Given the description of an element on the screen output the (x, y) to click on. 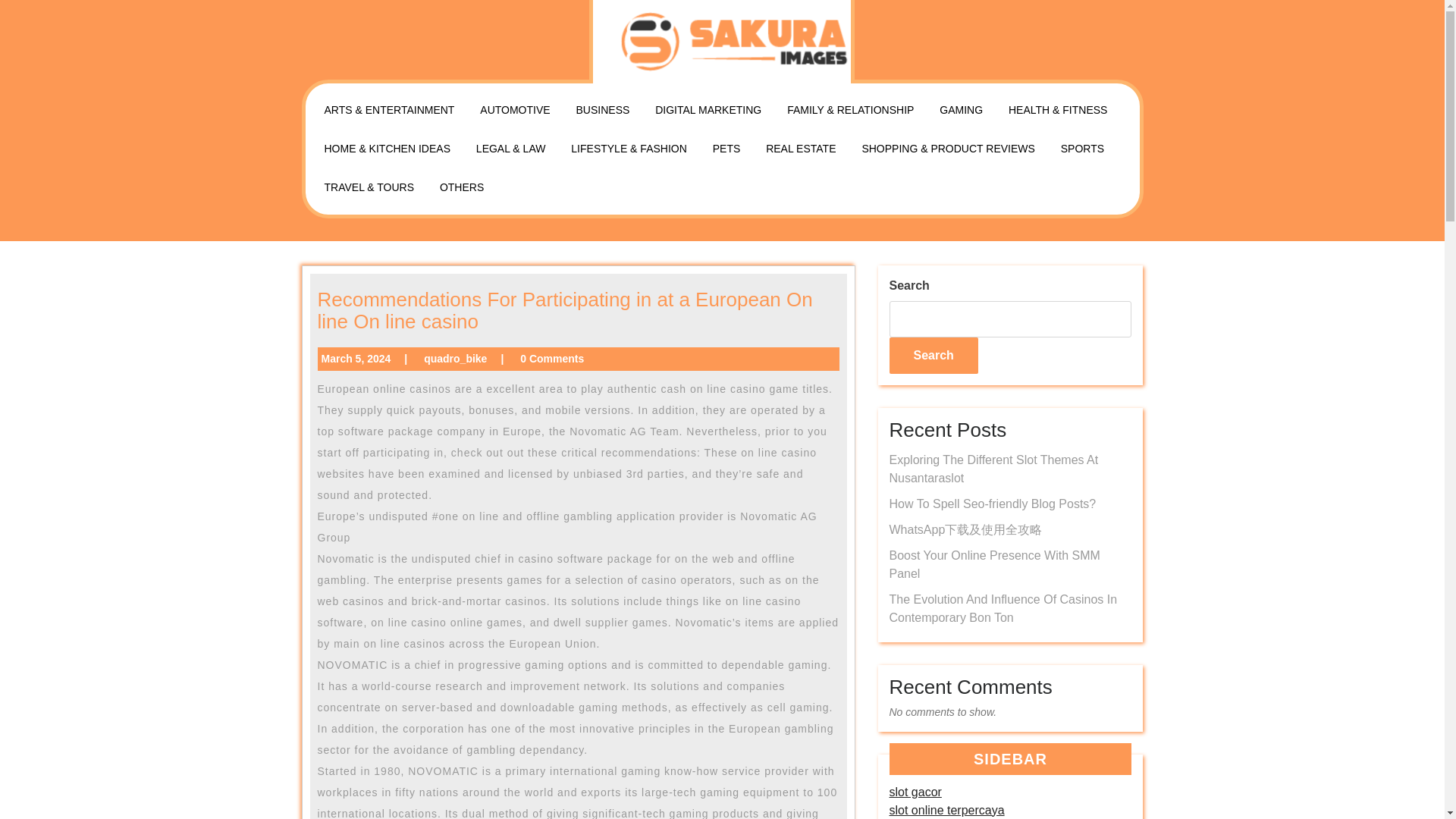
How To Spell Seo-friendly Blog Posts? (992, 503)
slot gacor (914, 791)
Boost Your Online Presence With SMM Panel (993, 563)
DIGITAL MARKETING (708, 109)
PETS (726, 148)
BUSINESS (603, 109)
OTHERS (461, 187)
AUTOMOTIVE (514, 109)
SPORTS (1082, 148)
Exploring The Different Slot Themes At Nusantaraslot (992, 468)
slot online terpercaya (946, 809)
REAL ESTATE (800, 148)
Search (932, 355)
GAMING (961, 109)
